Given the description of an element on the screen output the (x, y) to click on. 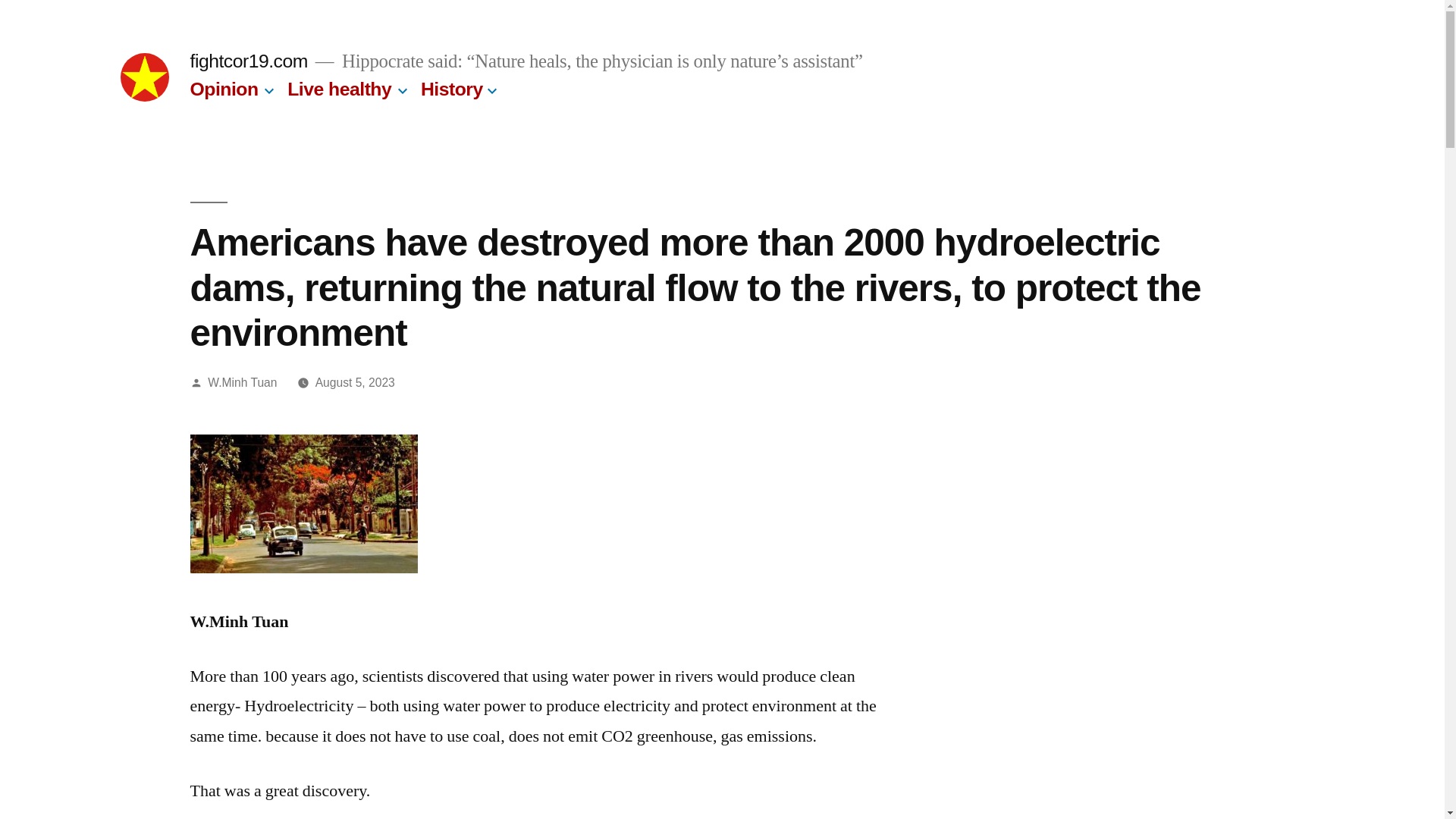
Opinion (223, 88)
Live healthy (338, 88)
August 5, 2023 (354, 382)
W.Minh Tuan (242, 382)
History (451, 88)
fightcor19.com (248, 60)
